Given the description of an element on the screen output the (x, y) to click on. 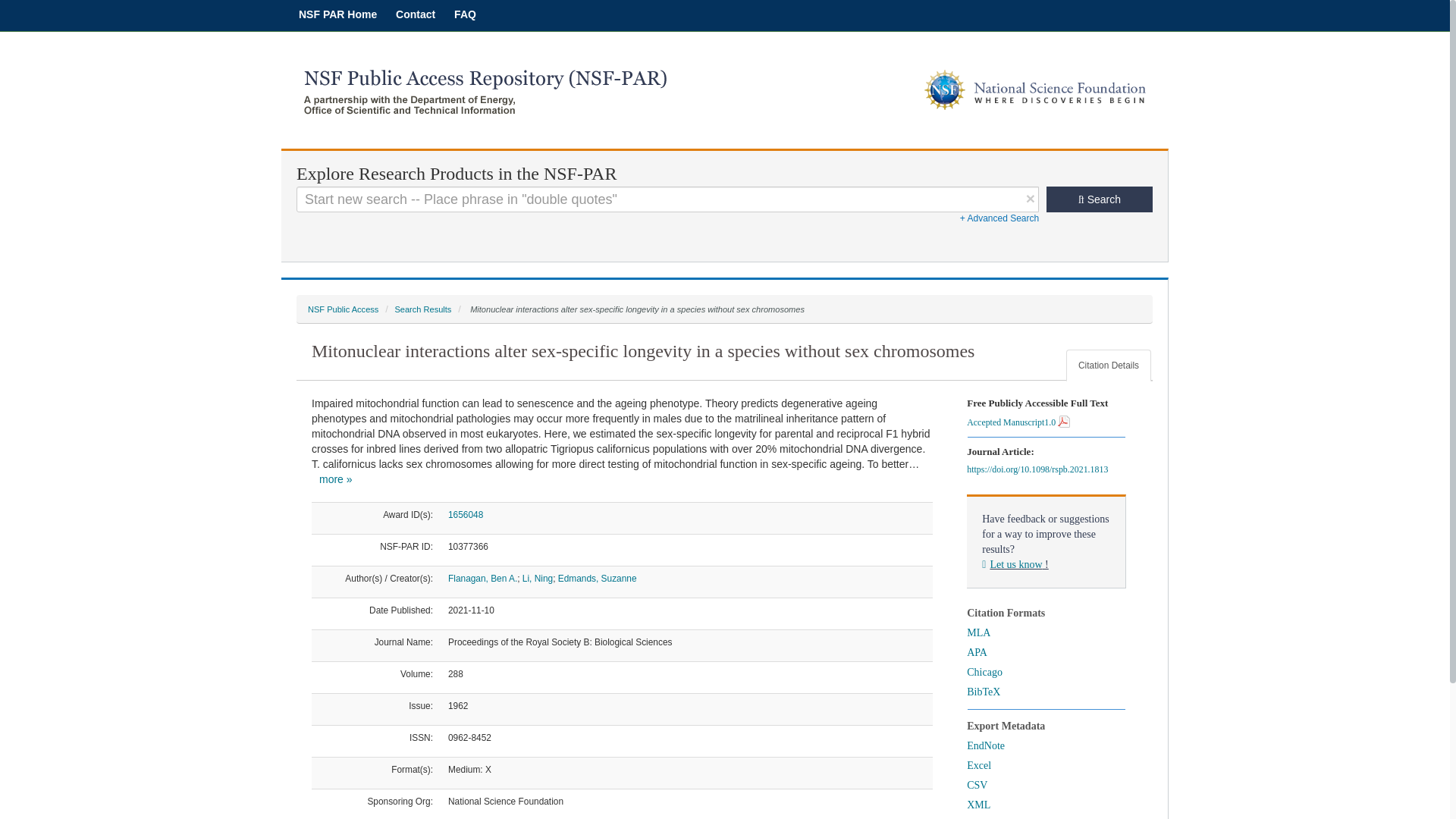
1656048 (465, 514)
FAQ (464, 14)
Edmands, Suzanne (597, 578)
Search (1099, 199)
NSF PAR FAQ (464, 14)
NSF PAR Contact (415, 14)
NSF PAR Home (337, 14)
NSF PAR Home (337, 14)
NSF Public Access (342, 308)
Citation Details (1108, 365)
